Given the description of an element on the screen output the (x, y) to click on. 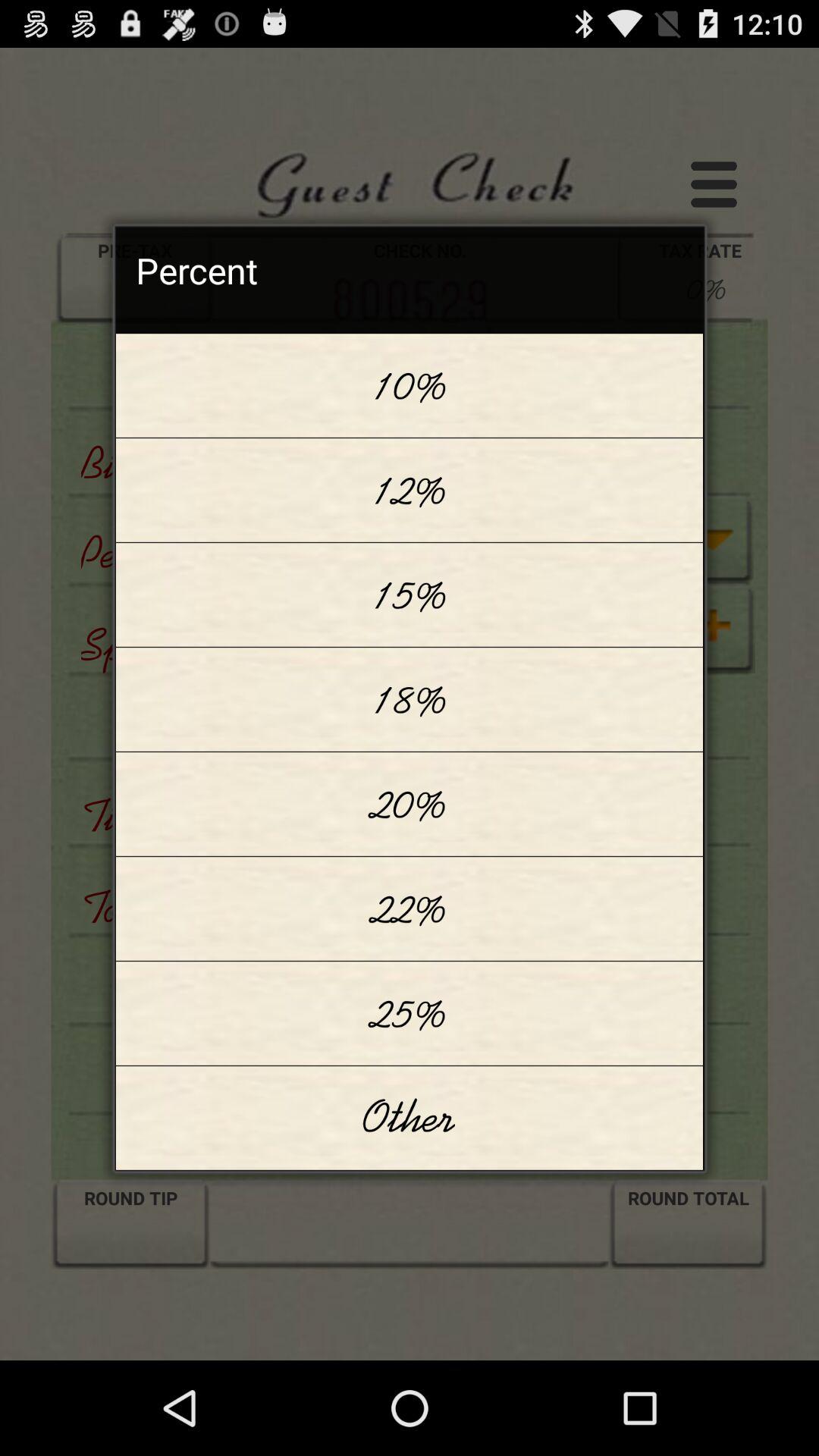
turn on the 20% item (409, 803)
